Given the description of an element on the screen output the (x, y) to click on. 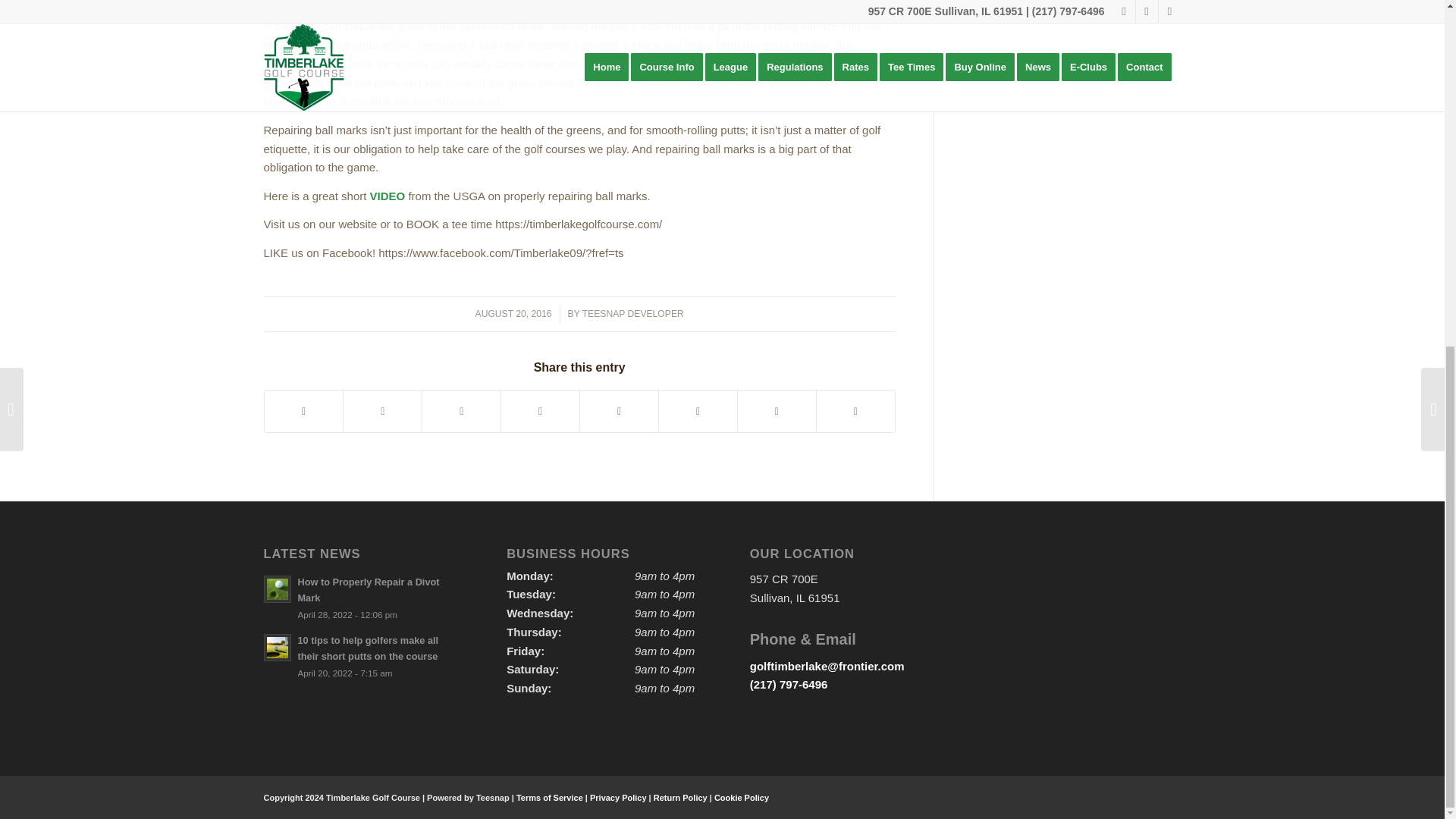
Posts by Teesnap Developer (633, 313)
